Given the description of an element on the screen output the (x, y) to click on. 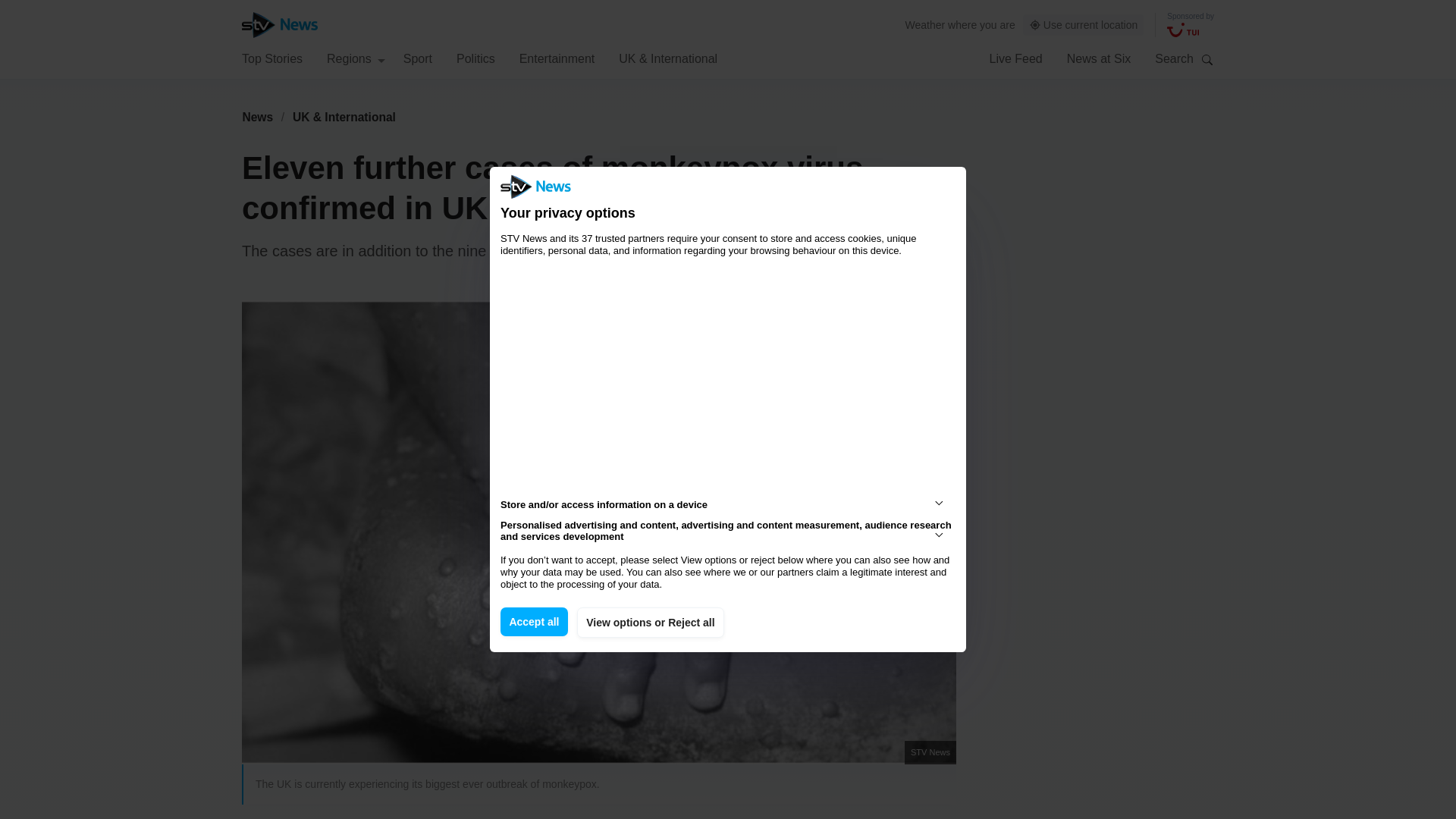
Entertainment (557, 57)
Top Stories (271, 57)
Regions (355, 57)
Weather (924, 24)
Search (1206, 59)
Politics (476, 57)
Live Feed (1015, 57)
News (257, 116)
Use current location (1083, 25)
News at Six (1099, 57)
